Given the description of an element on the screen output the (x, y) to click on. 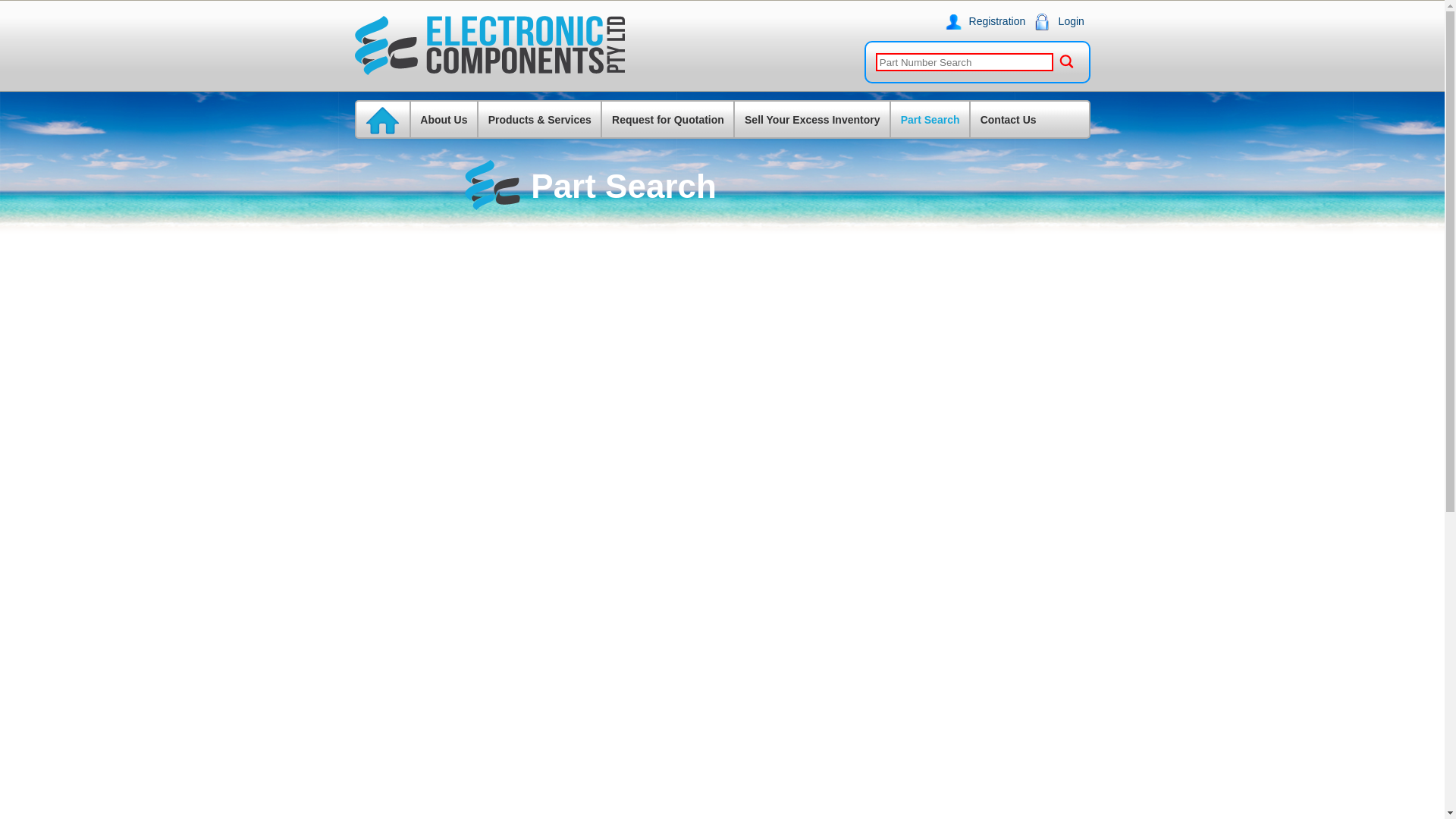
Home Element type: hover (382, 120)
Contact Us Element type: text (1007, 119)
Part Search Element type: text (930, 119)
Products & Services Element type: text (539, 119)
About Us Element type: text (443, 119)
Request for Quotation Element type: text (667, 119)
Registration Element type: text (990, 21)
Sell Your Excess Inventory Element type: text (811, 119)
Login Element type: text (1064, 21)
